Given the description of an element on the screen output the (x, y) to click on. 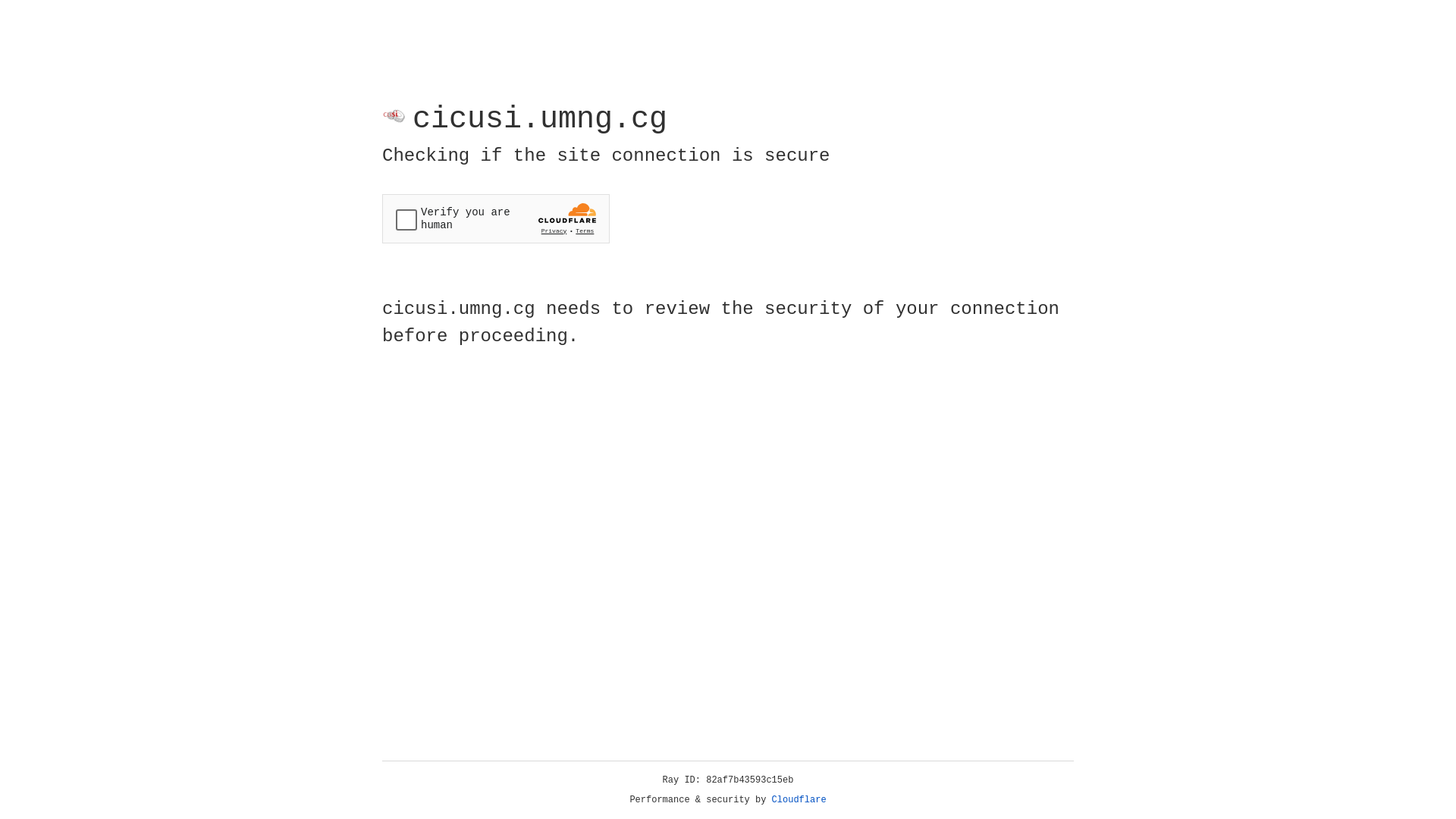
Cloudflare Element type: text (798, 799)
Widget containing a Cloudflare security challenge Element type: hover (495, 218)
